Given the description of an element on the screen output the (x, y) to click on. 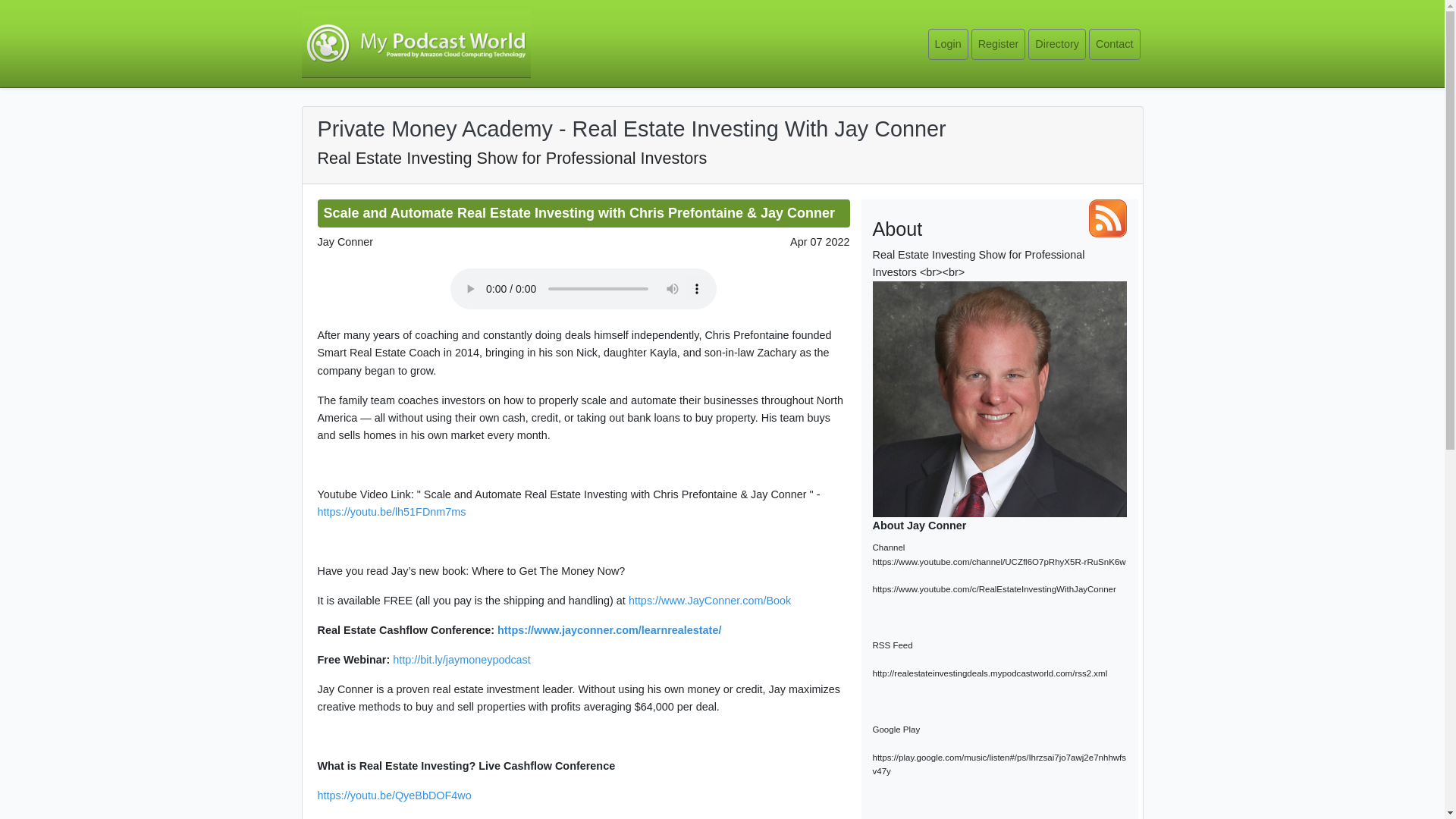
About (896, 222)
Register (998, 43)
Directory (1056, 43)
Contact (1114, 43)
Login (948, 43)
